Given the description of an element on the screen output the (x, y) to click on. 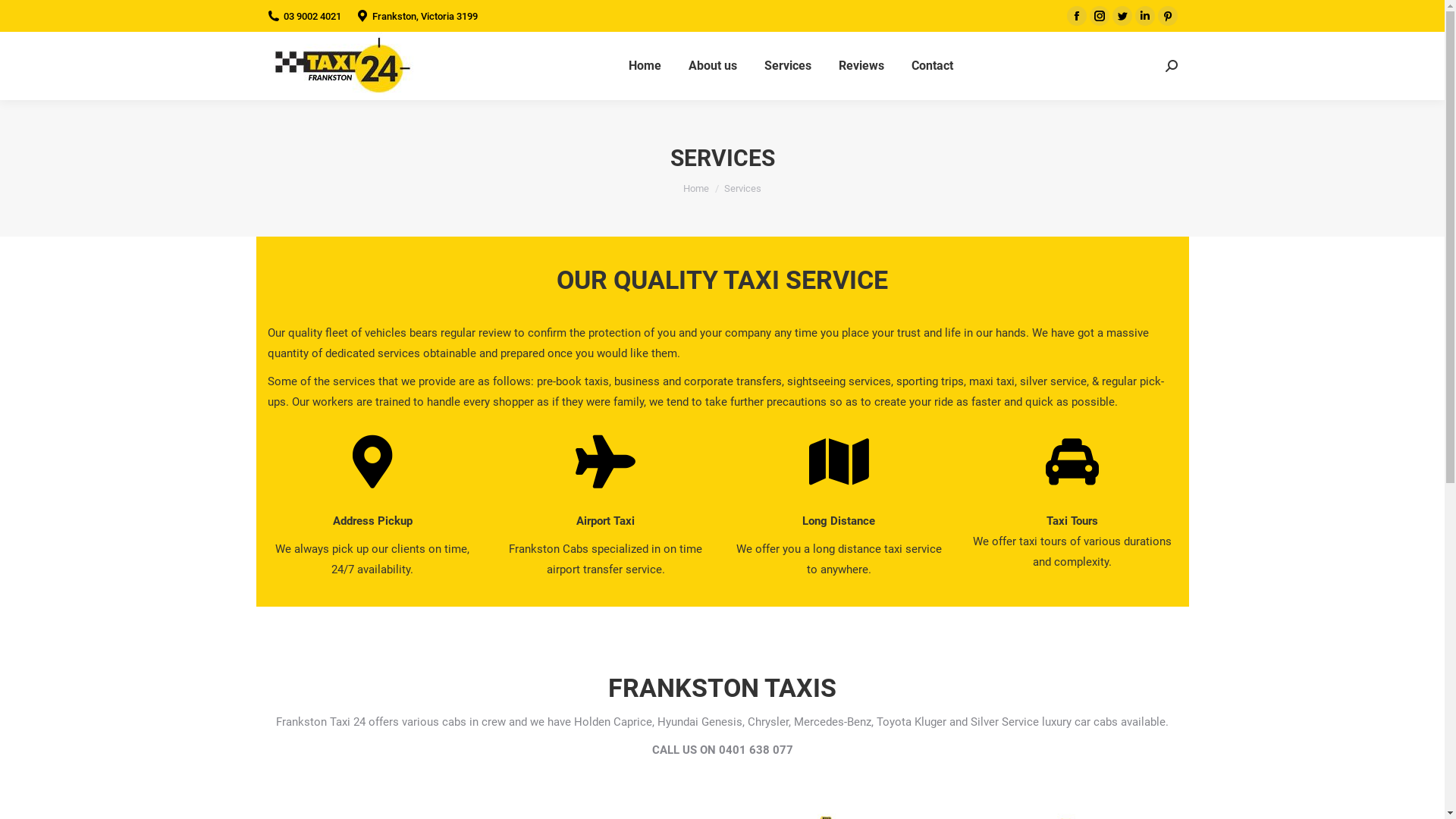
Facebook page opens in new window Element type: text (1075, 15)
Go! Element type: text (23, 15)
Reviews Element type: text (861, 65)
Twitter page opens in new window Element type: text (1121, 15)
Linkedin page opens in new window Element type: text (1144, 15)
Home Element type: text (696, 188)
Instagram page opens in new window Element type: text (1098, 15)
Pinterest page opens in new window Element type: text (1166, 15)
Home Element type: text (643, 65)
Contact Element type: text (932, 65)
Services Element type: text (787, 65)
About us Element type: text (712, 65)
